Given the description of an element on the screen output the (x, y) to click on. 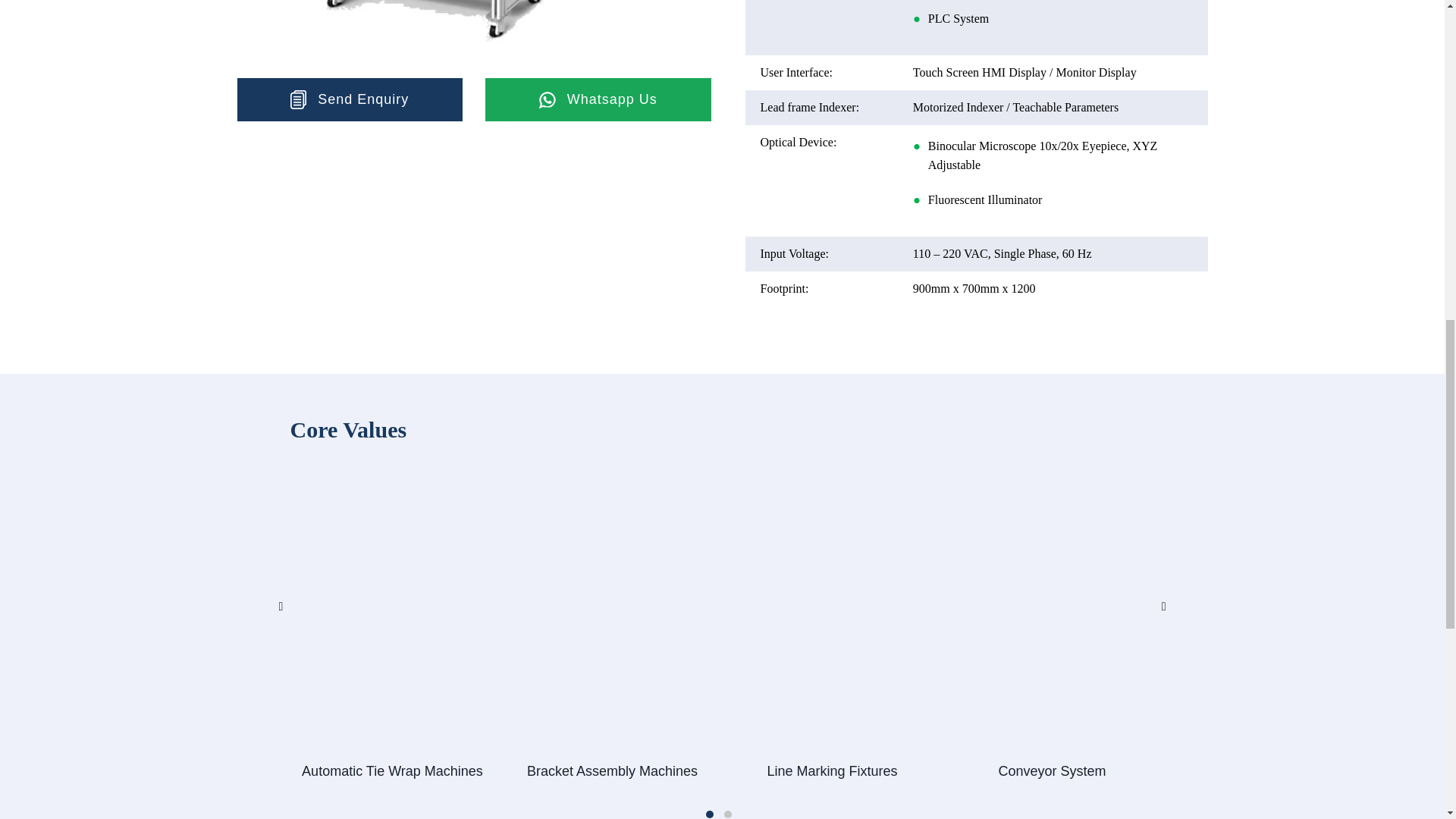
Whatsapp Us (597, 99)
3rd Optical Inspection System (433, 31)
Automatic Tie Wrap Machines (391, 771)
Conveyor System (1051, 771)
Line Marking Fixtures (831, 771)
Send Enquiry (349, 99)
Bracket Assembly Machines (611, 771)
